Given the description of an element on the screen output the (x, y) to click on. 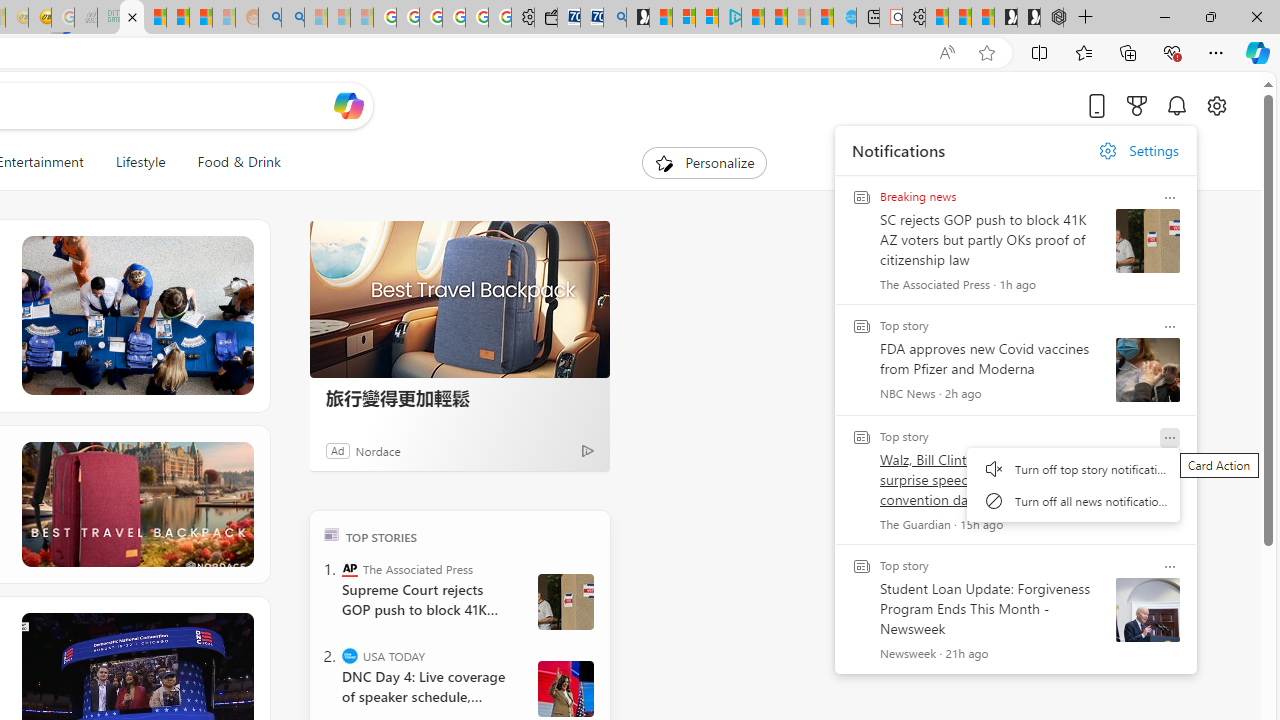
The Associated Press (349, 568)
AutomationID: notification-menu-container (1073, 484)
